Given the description of an element on the screen output the (x, y) to click on. 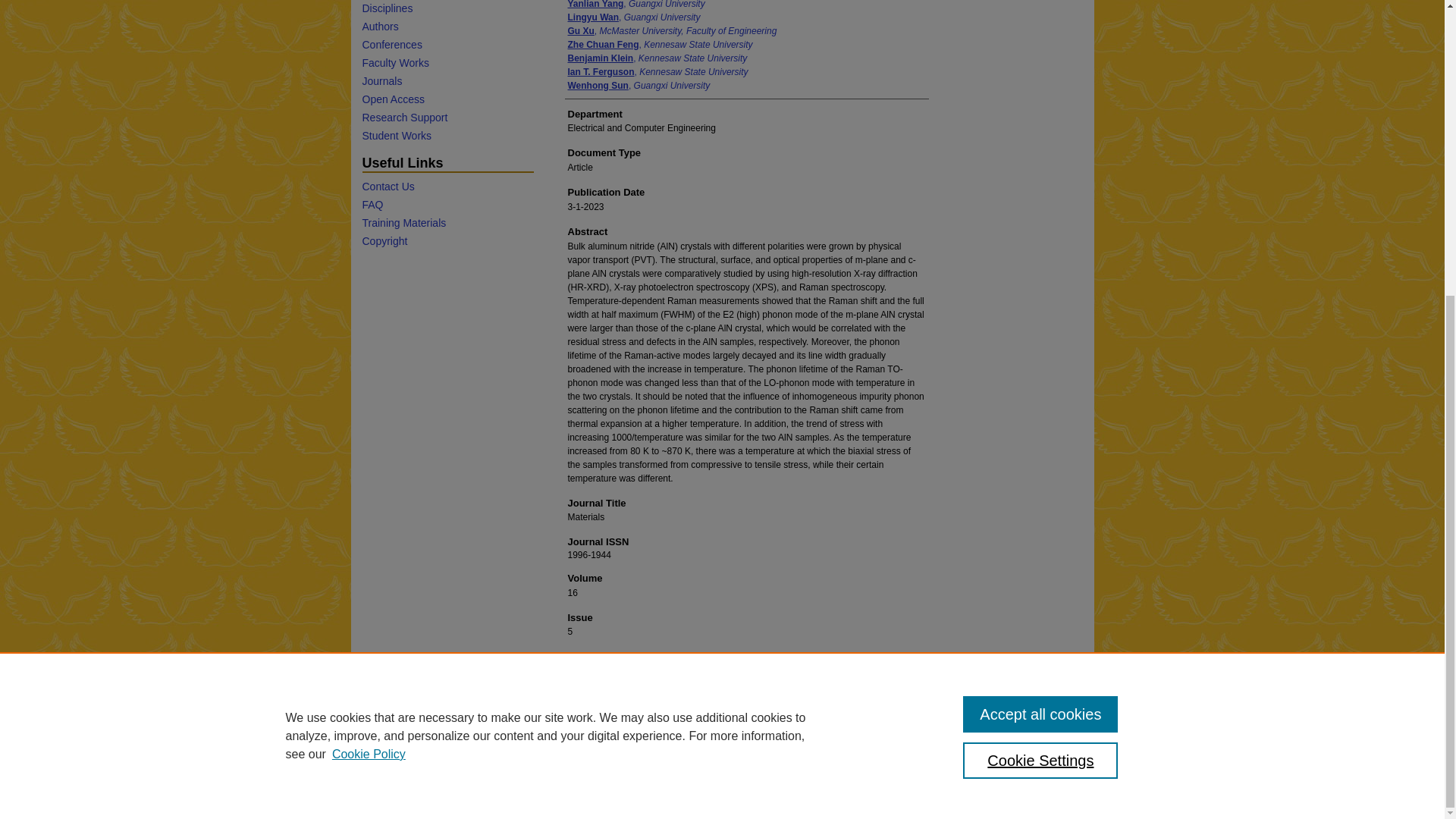
Gu Xu, McMaster University, Faculty of Engineering (671, 30)
Benjamin Klein, Kennesaw State University (656, 58)
Yanlian Yang, Guangxi University (635, 5)
Lingyu Wan, Guangxi University (633, 17)
Wenhong Sun, Guangxi University (638, 85)
Ian T. Ferguson, Kennesaw State University (657, 71)
Zhe Chuan Feng, Kennesaw State University (659, 44)
